Given the description of an element on the screen output the (x, y) to click on. 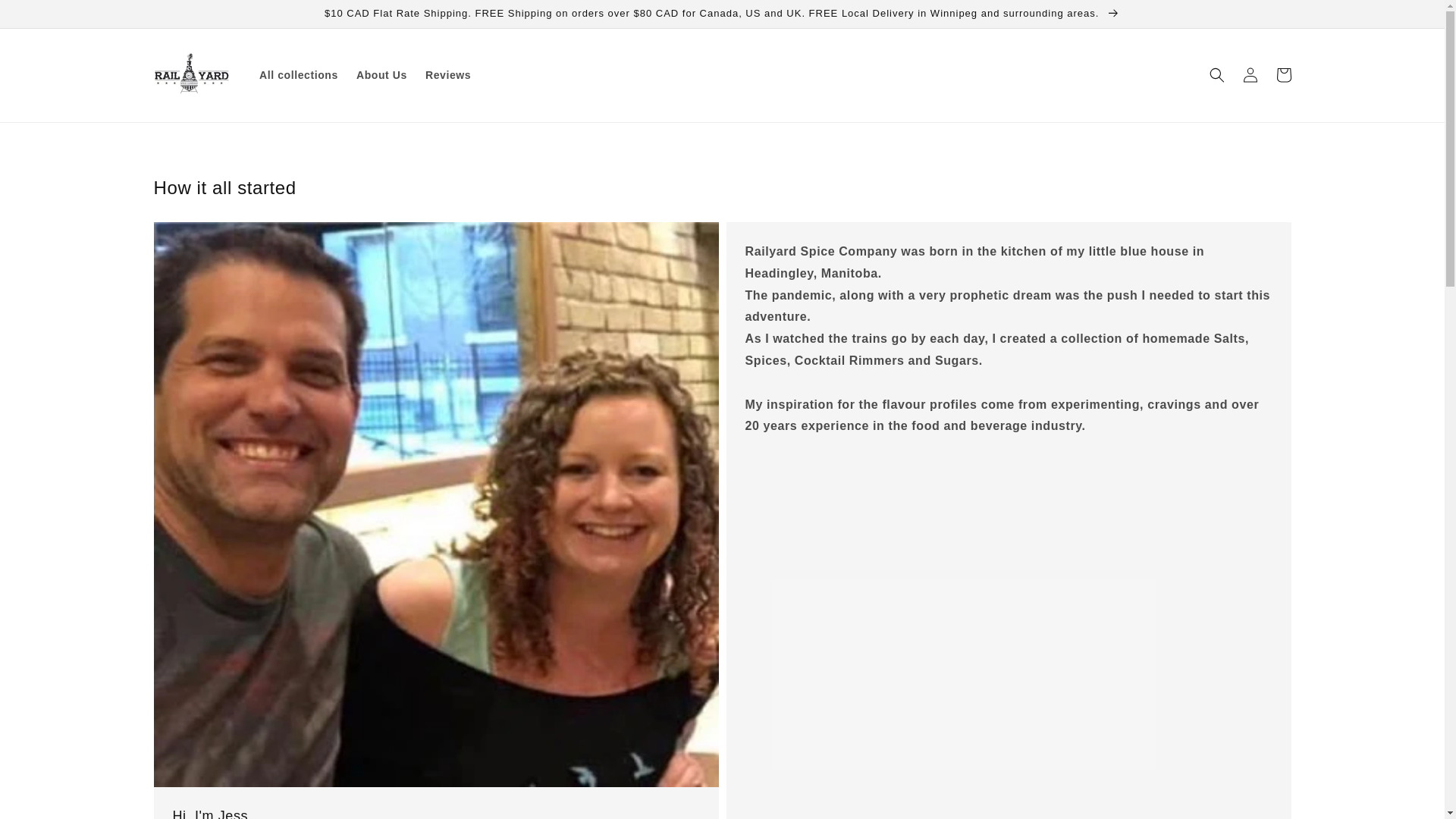
Skip to content (45, 16)
Log in (1249, 74)
Cart (1283, 74)
All collections (298, 74)
About Us (381, 74)
Reviews (448, 74)
